Given the description of an element on the screen output the (x, y) to click on. 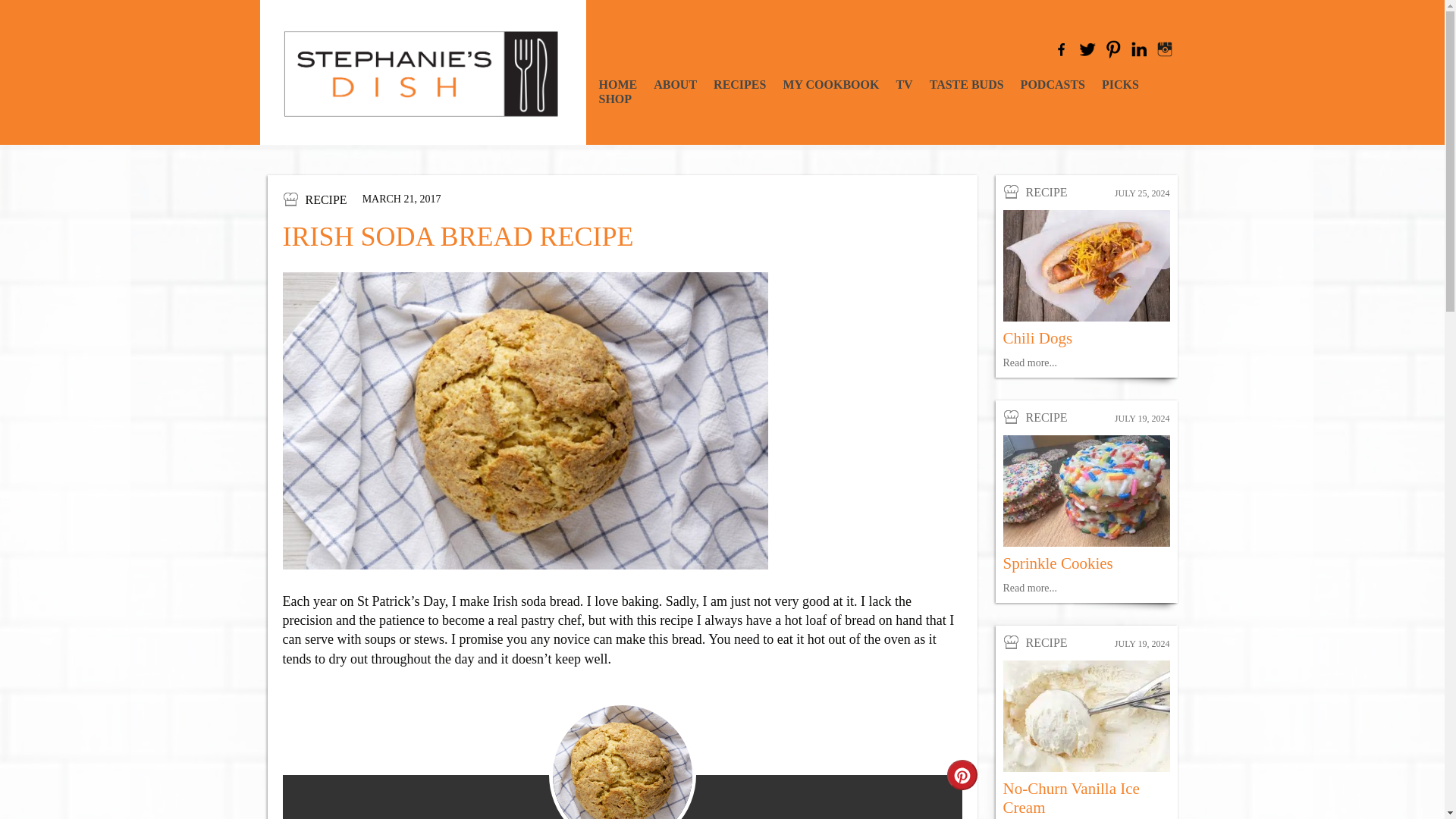
HOME (617, 83)
Sprinkle Cookies (1057, 563)
RECIPES (739, 83)
PODCASTS (1052, 83)
Chili Dogs (1037, 338)
MY COOKBOOK (831, 83)
TASTE BUDS (967, 83)
PICKS (1120, 83)
Create Pinterest Pin (961, 775)
ABOUT (675, 83)
TV (903, 83)
No-Churn Vanilla Ice Cream (1070, 797)
Read more... (1030, 587)
SHOP (614, 98)
Read more... (1030, 362)
